Given the description of an element on the screen output the (x, y) to click on. 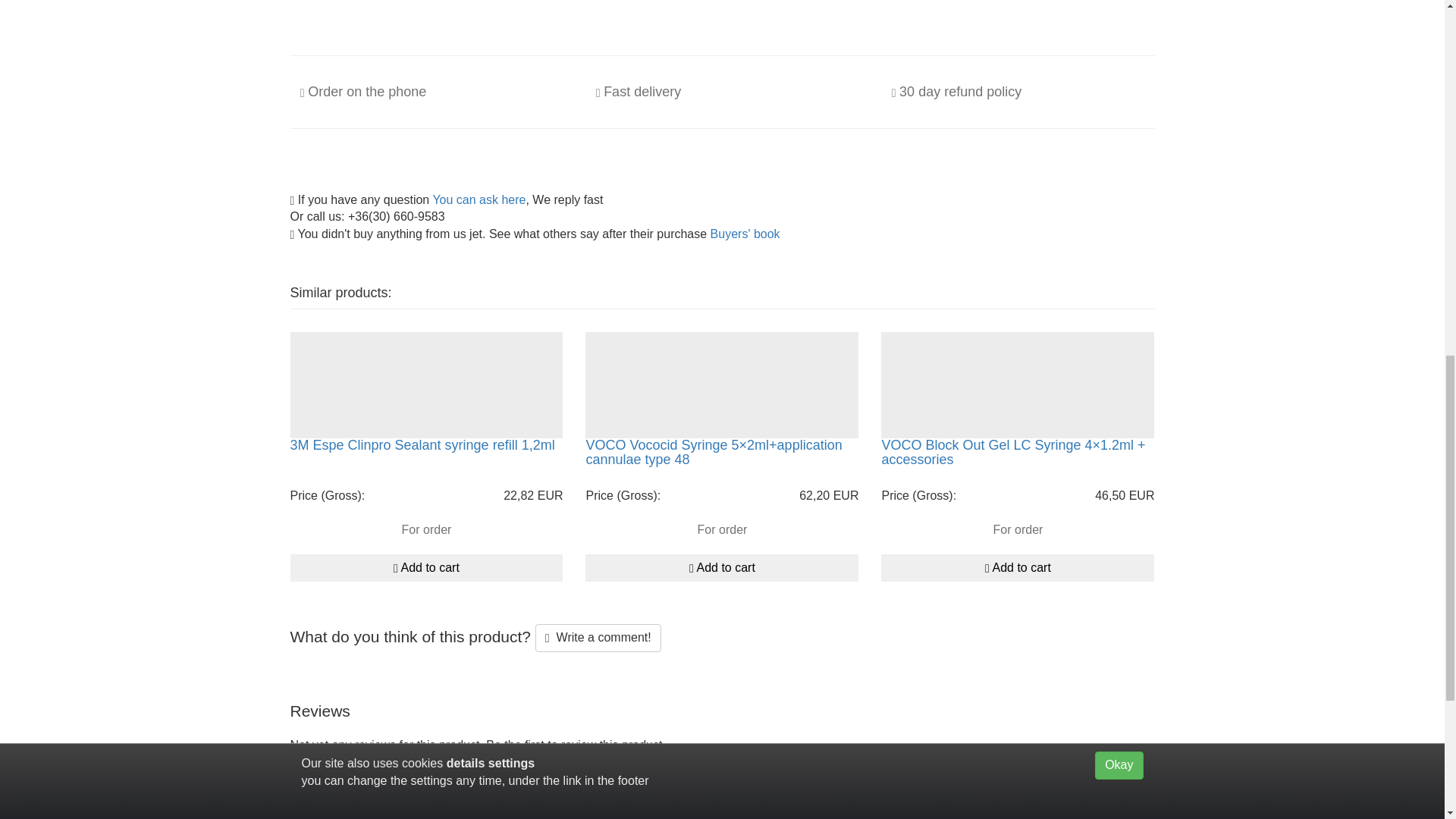
  Write a comment! (598, 637)
You can ask here (478, 199)
Buyers' book (745, 233)
3M Espe Clinpro Sealant syringe refill 1,2ml (421, 444)
